Given the description of an element on the screen output the (x, y) to click on. 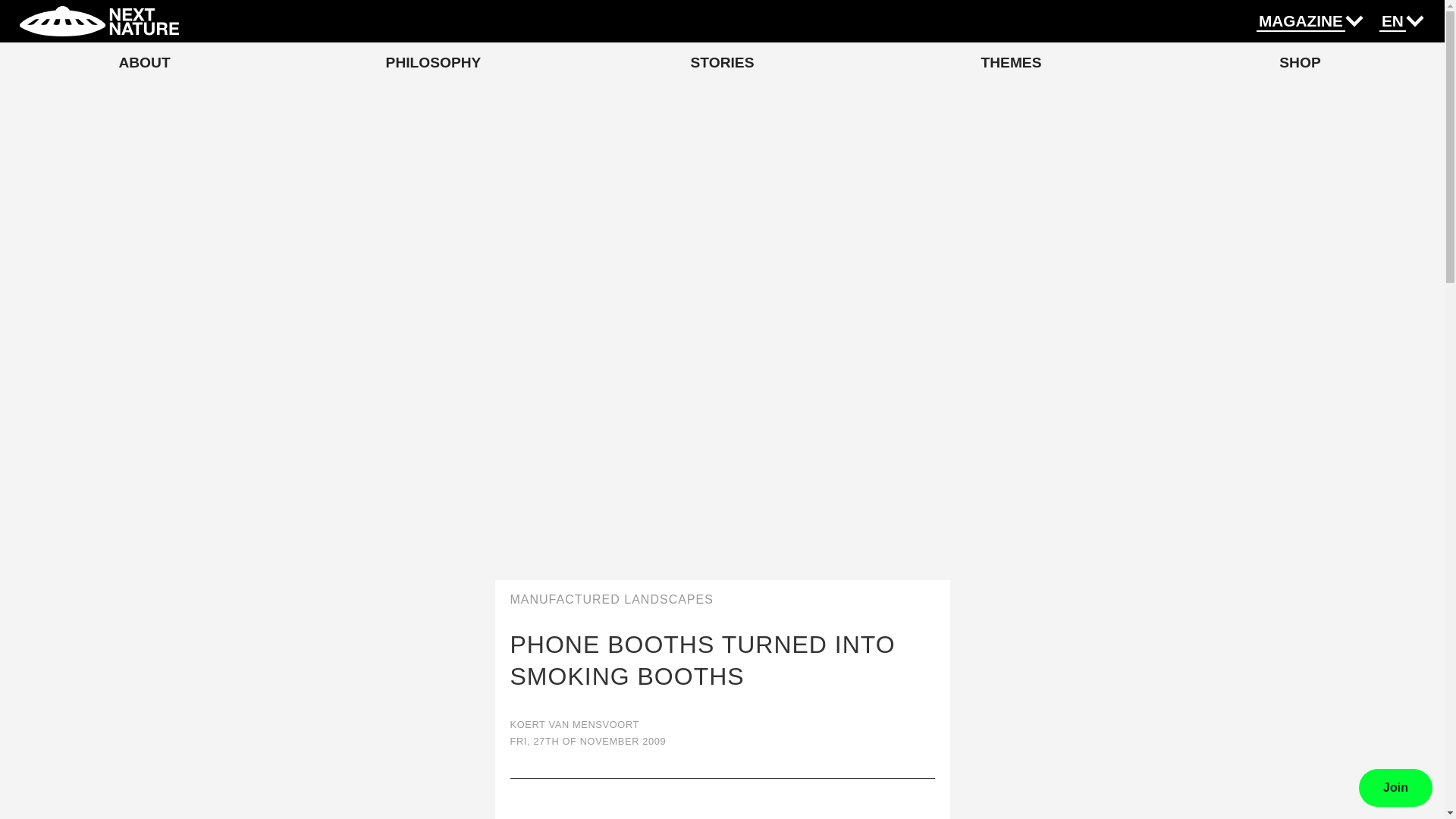
Join (1395, 787)
SHOP (1299, 62)
STORIES (721, 62)
PHILOSOPHY (433, 62)
MANUFACTURED LANDSCAPES (721, 600)
2009-11-27 (721, 740)
KOERT VAN MENSVOORT (721, 725)
MAGAZINE (1300, 21)
ABOUT (143, 62)
EN (1392, 21)
